Given the description of an element on the screen output the (x, y) to click on. 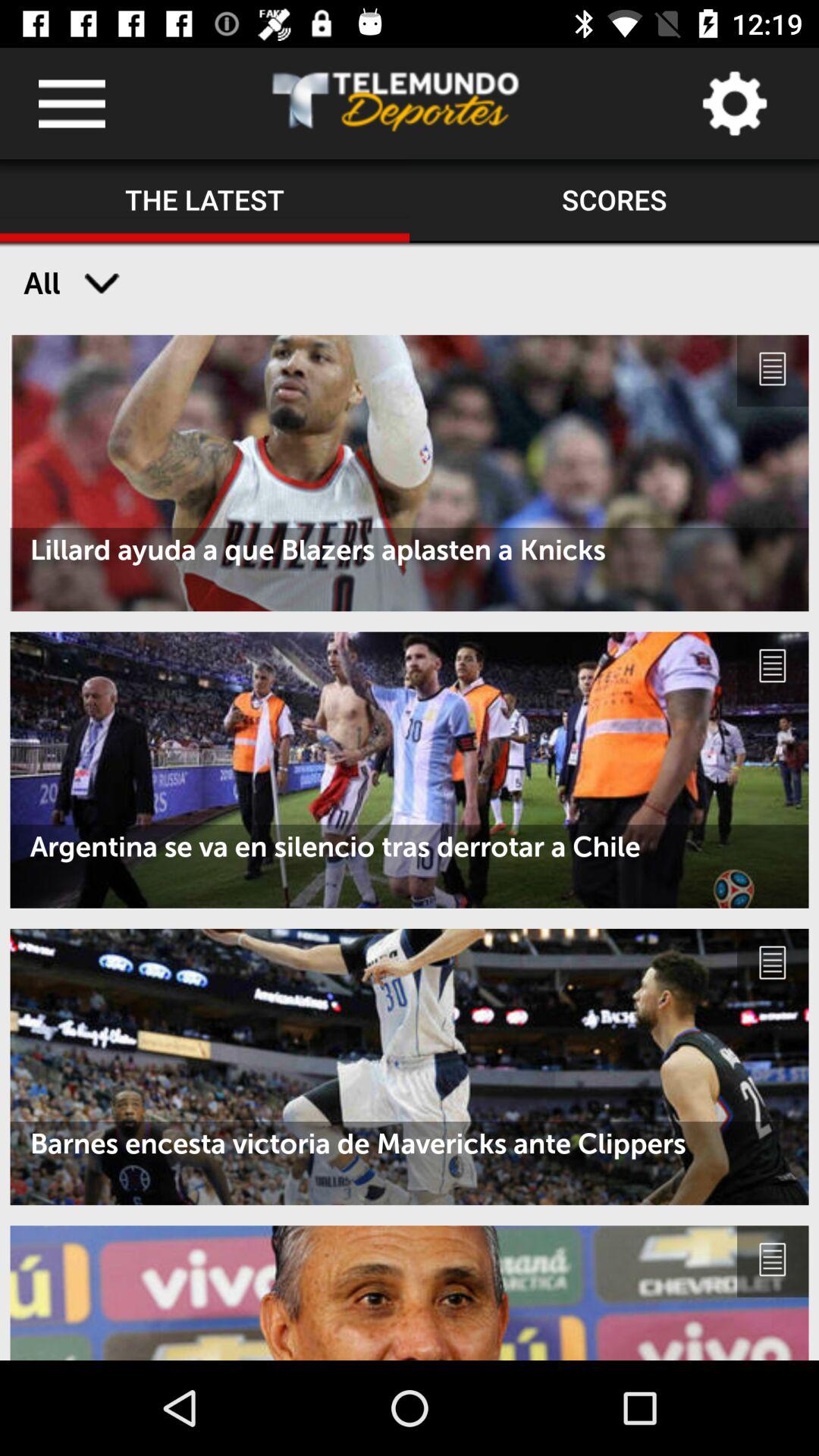
press the icon above the the latest icon (396, 103)
